Given the description of an element on the screen output the (x, y) to click on. 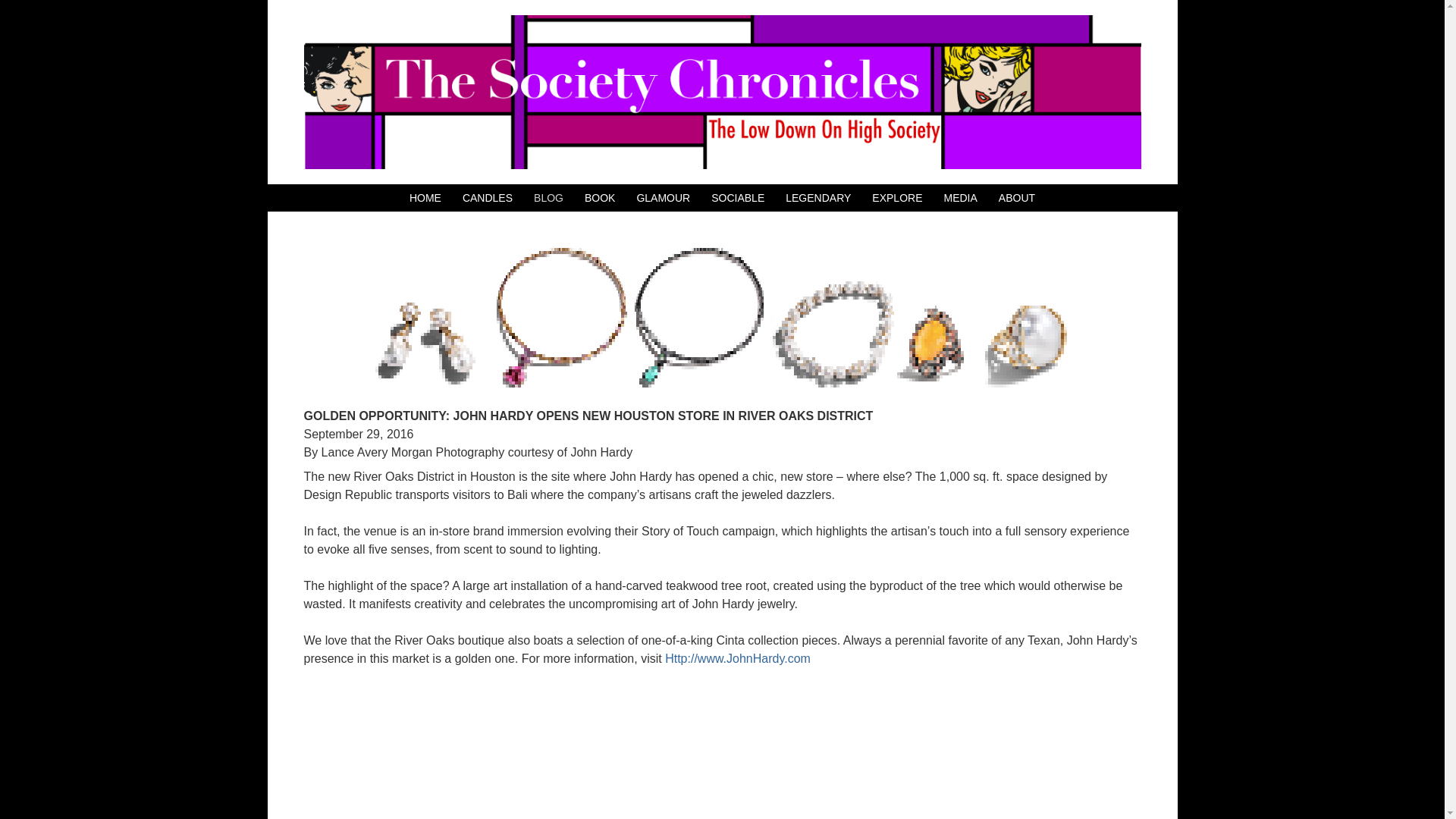
EXPLORE (896, 197)
MEDIA (959, 197)
THE SOCIETY CHRONICLES (721, 91)
LEGENDARY (818, 197)
BOOK (599, 197)
GLAMOUR (663, 197)
HOME (425, 197)
CANDLES (487, 197)
SOCIABLE (737, 197)
ABOUT (1016, 197)
BLOG (548, 197)
